Given the description of an element on the screen output the (x, y) to click on. 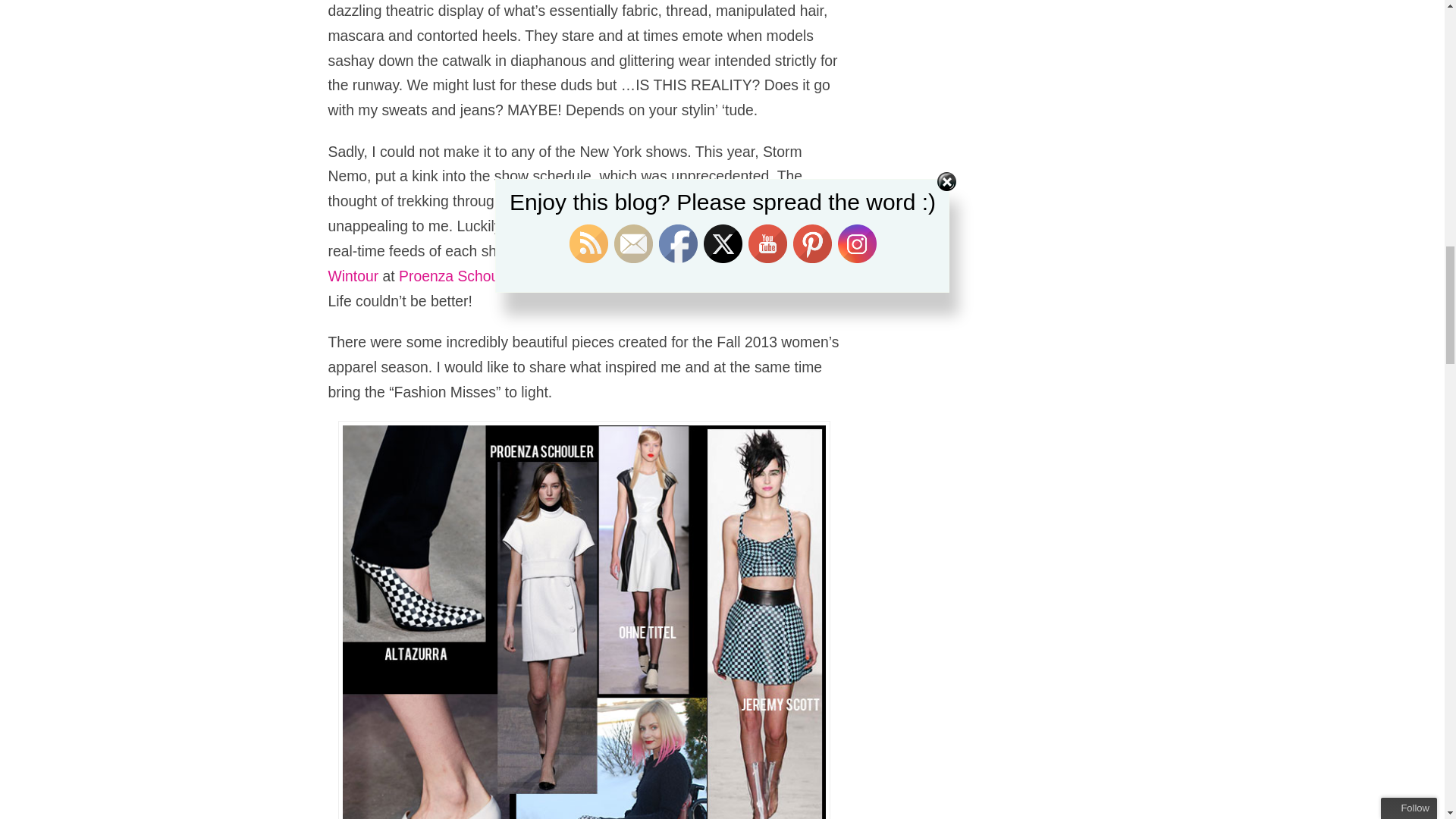
Anna Wintour (583, 263)
Marc Jacobs (564, 275)
Marc Jacobs (564, 275)
Nanette Lepore (664, 275)
Nanette Lepore (664, 275)
Proenza Schouler (456, 275)
Proenza Schouler (456, 275)
Anna Wintour (583, 263)
